Given the description of an element on the screen output the (x, y) to click on. 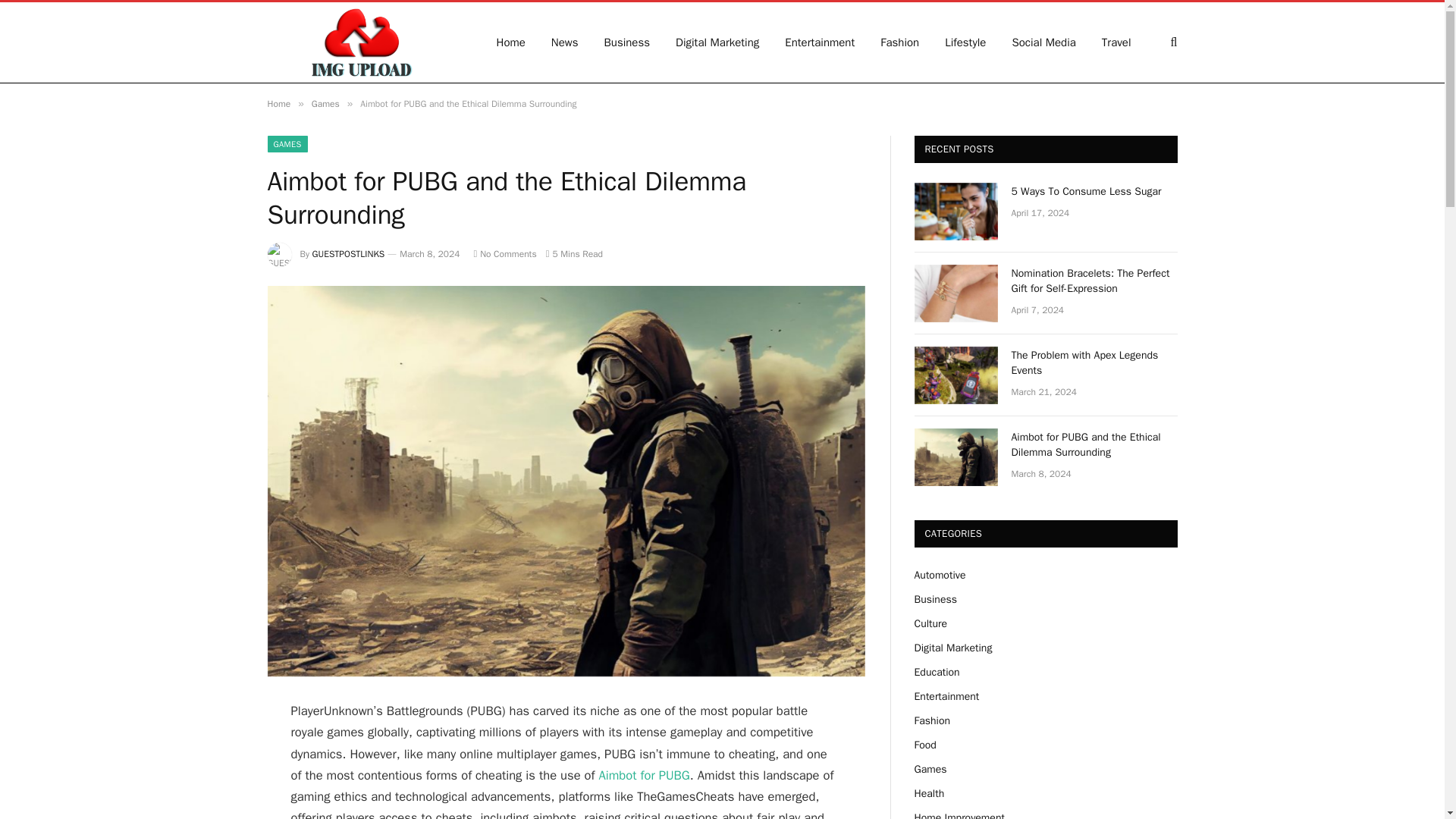
imgupload (361, 42)
Games (325, 103)
Aimbot for PUBG (643, 774)
GUESTPOSTLINKS (349, 254)
No Comments (504, 254)
Posts by GUESTPOSTLINKS (349, 254)
Business (627, 42)
Digital Marketing (716, 42)
Entertainment (819, 42)
